Given the description of an element on the screen output the (x, y) to click on. 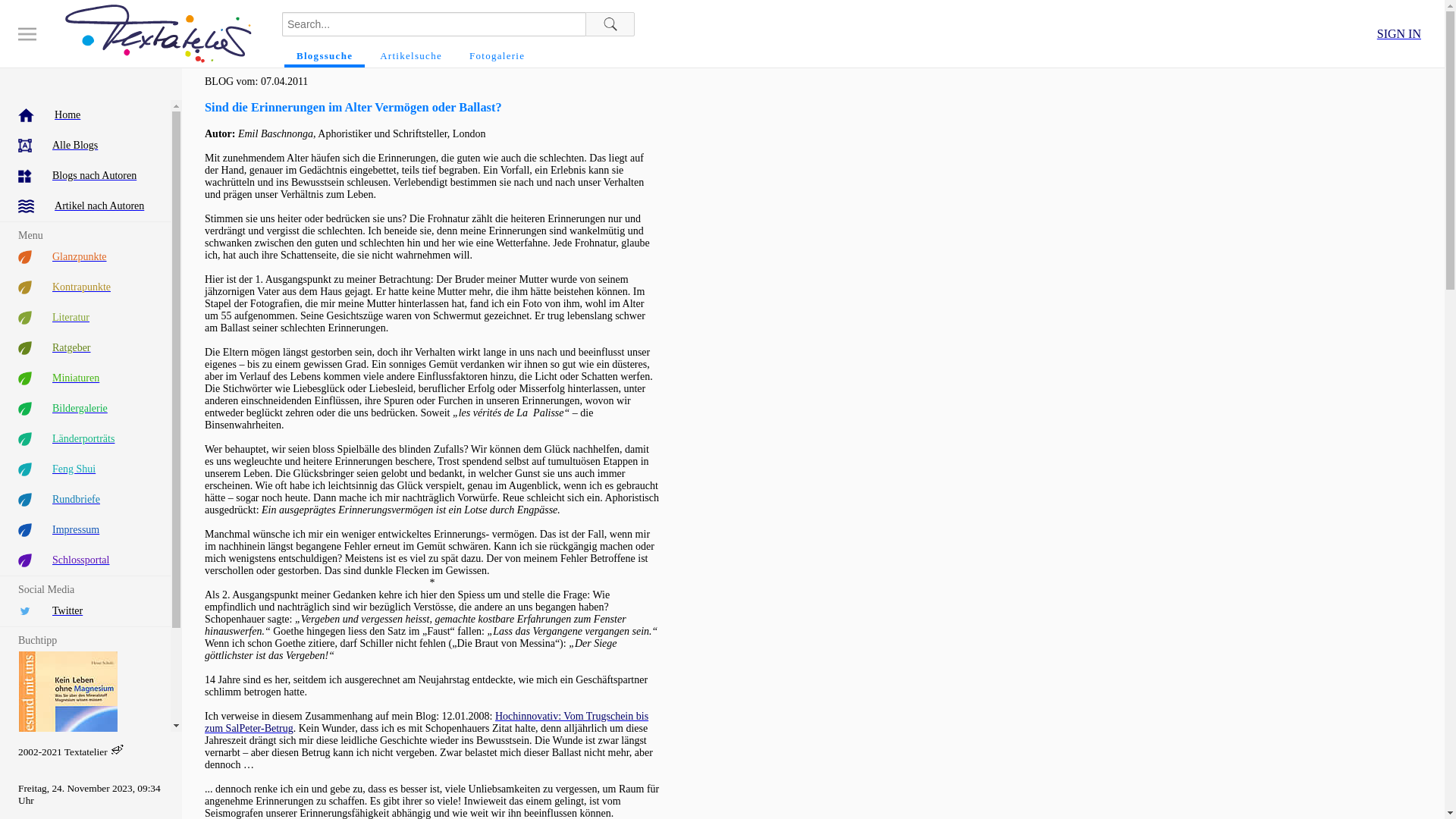
Miniaturen Element type: text (85, 378)
Hochinnovativ: Vom Trugschein bis zum SalPeter-Betrug Element type: text (426, 722)
Alle Blogs Element type: text (85, 145)
Schlossportal Element type: text (85, 560)
Fotogalerie Element type: text (496, 55)
Twitter Element type: text (85, 611)
Ratgeber Element type: text (85, 347)
Literatur Element type: text (85, 317)
Kontrapunkte Element type: text (85, 287)
Bildergalerie Element type: text (85, 408)
Feng Shui Element type: text (85, 469)
Artikelsuche Element type: text (410, 55)
logo Element type: hover (158, 33)
Impressum Element type: text (85, 529)
Blogs nach Autoren Element type: text (85, 175)
SIGN IN Element type: text (1398, 33)
Artikel nach Autoren Element type: text (85, 206)
eMail Element type: hover (117, 749)
Home Element type: text (85, 115)
Rundbriefe Element type: text (85, 499)
Blogssuche Element type: text (324, 55)
Glanzpunkte Element type: text (85, 256)
